Given the description of an element on the screen output the (x, y) to click on. 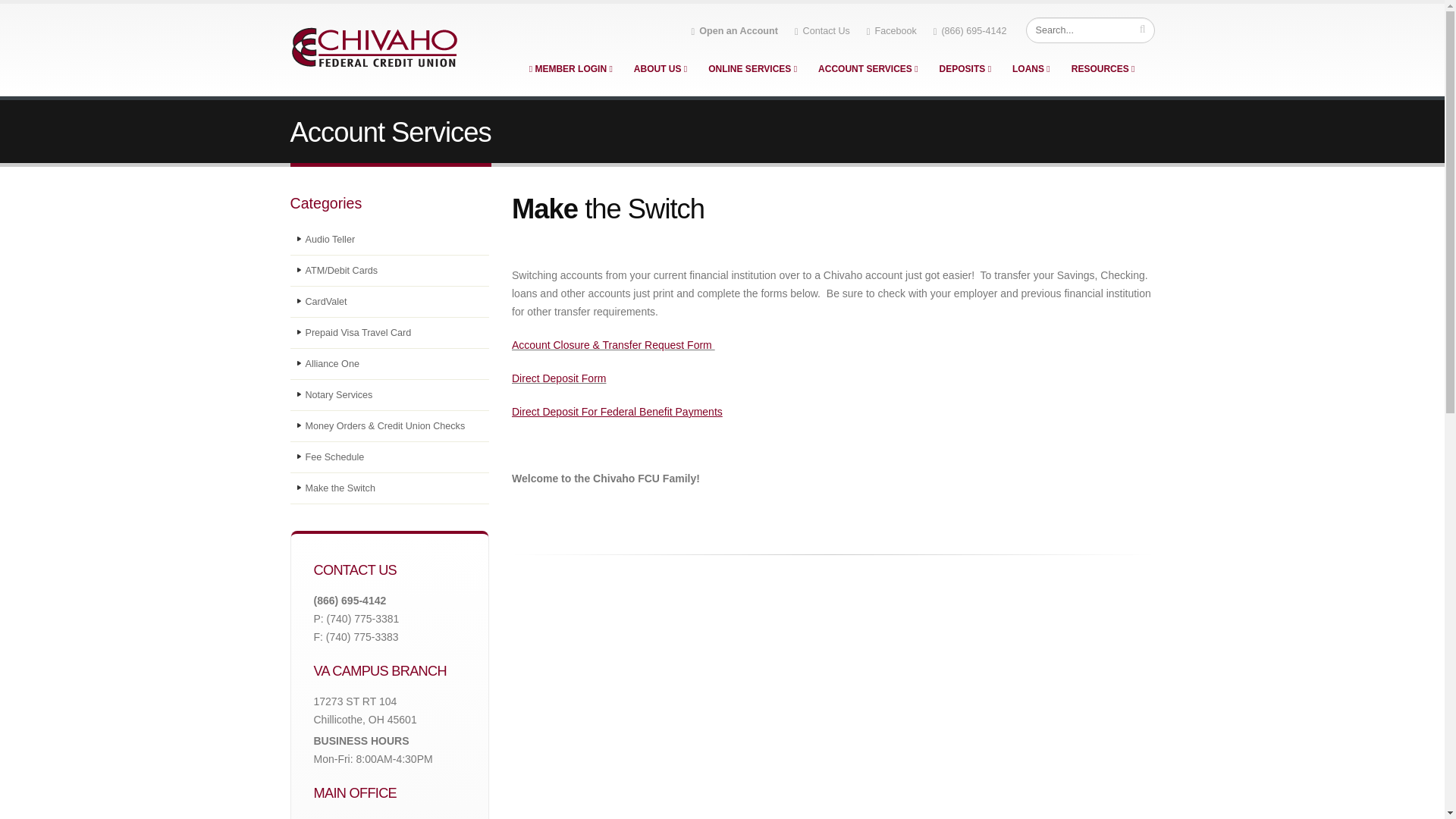
DEPOSITS (965, 69)
Contact Us (822, 31)
Facebook (891, 31)
MEMBER LOGIN (571, 69)
ACCOUNT SERVICES (868, 69)
ONLINE SERVICES (752, 69)
ABOUT US (660, 69)
Open an Account (735, 31)
Search (1089, 30)
